Given the description of an element on the screen output the (x, y) to click on. 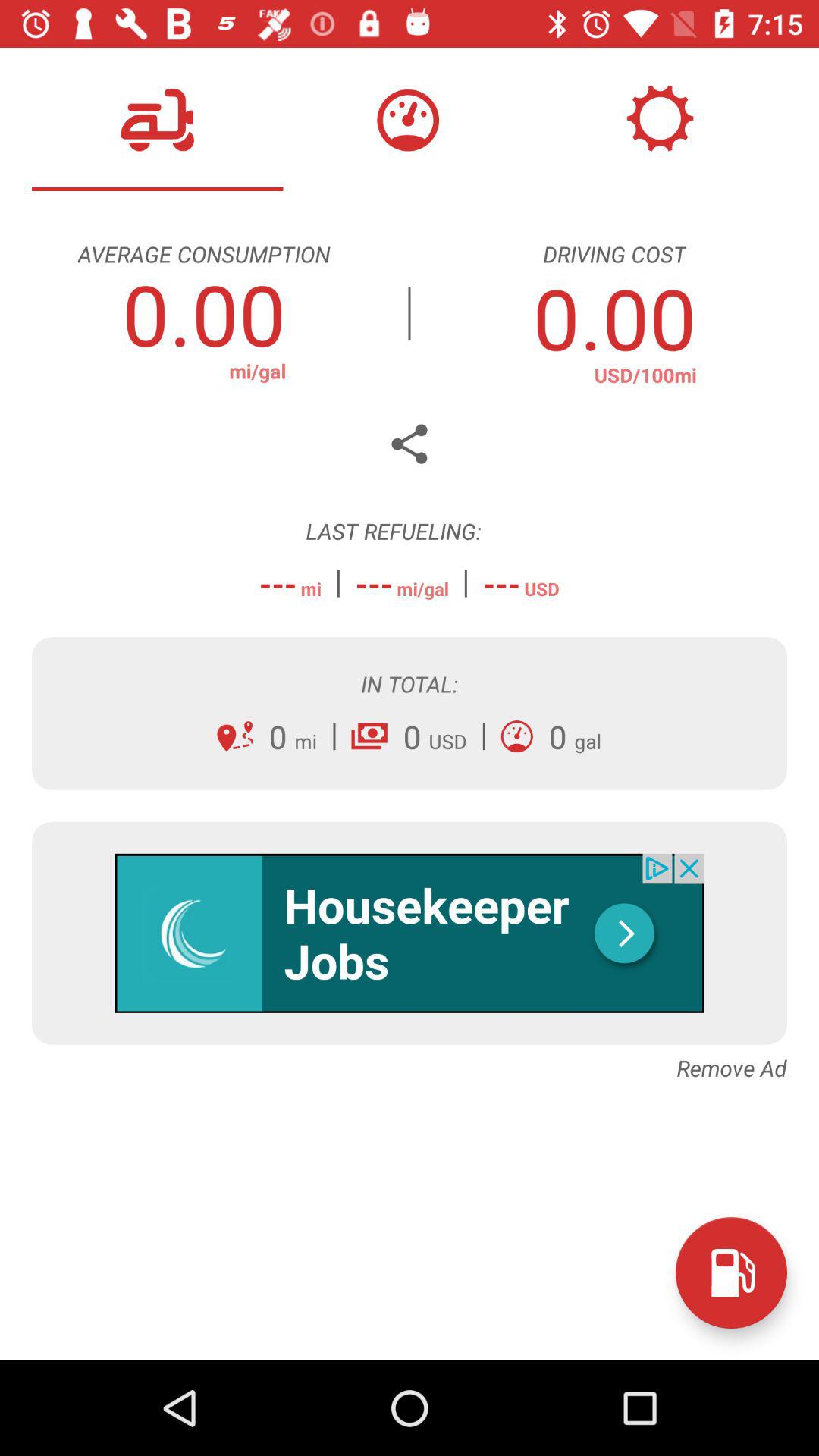
announcement (409, 932)
